Given the description of an element on the screen output the (x, y) to click on. 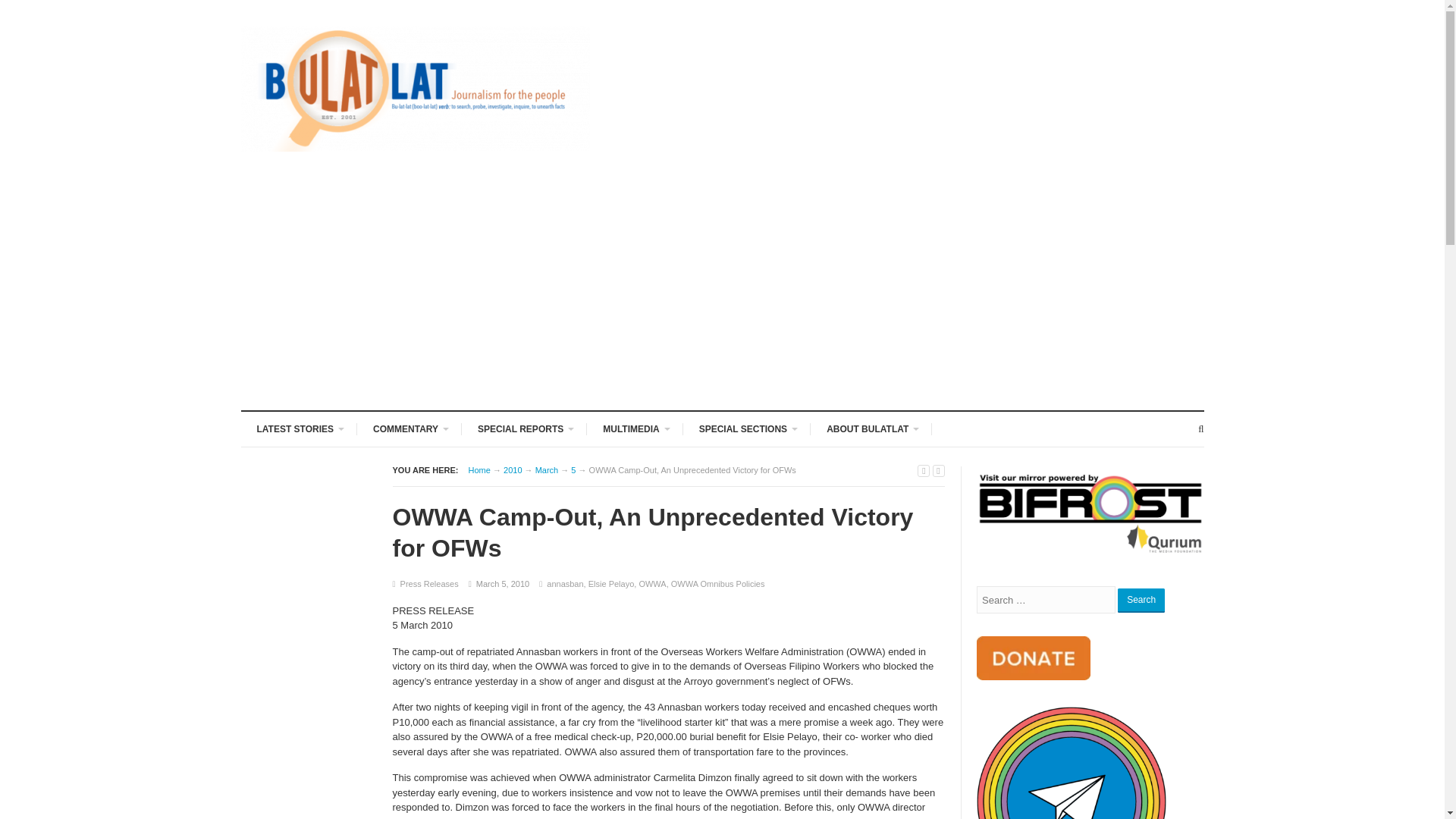
Friday, March 5, 2010, 11:49 am (502, 583)
MULTIMEDIA (634, 428)
Bulatlat (479, 470)
COMMENTARY (409, 428)
LATEST STORIES (299, 428)
SPECIAL REPORTS (523, 428)
SPECIAL SECTIONS (746, 428)
